Given the description of an element on the screen output the (x, y) to click on. 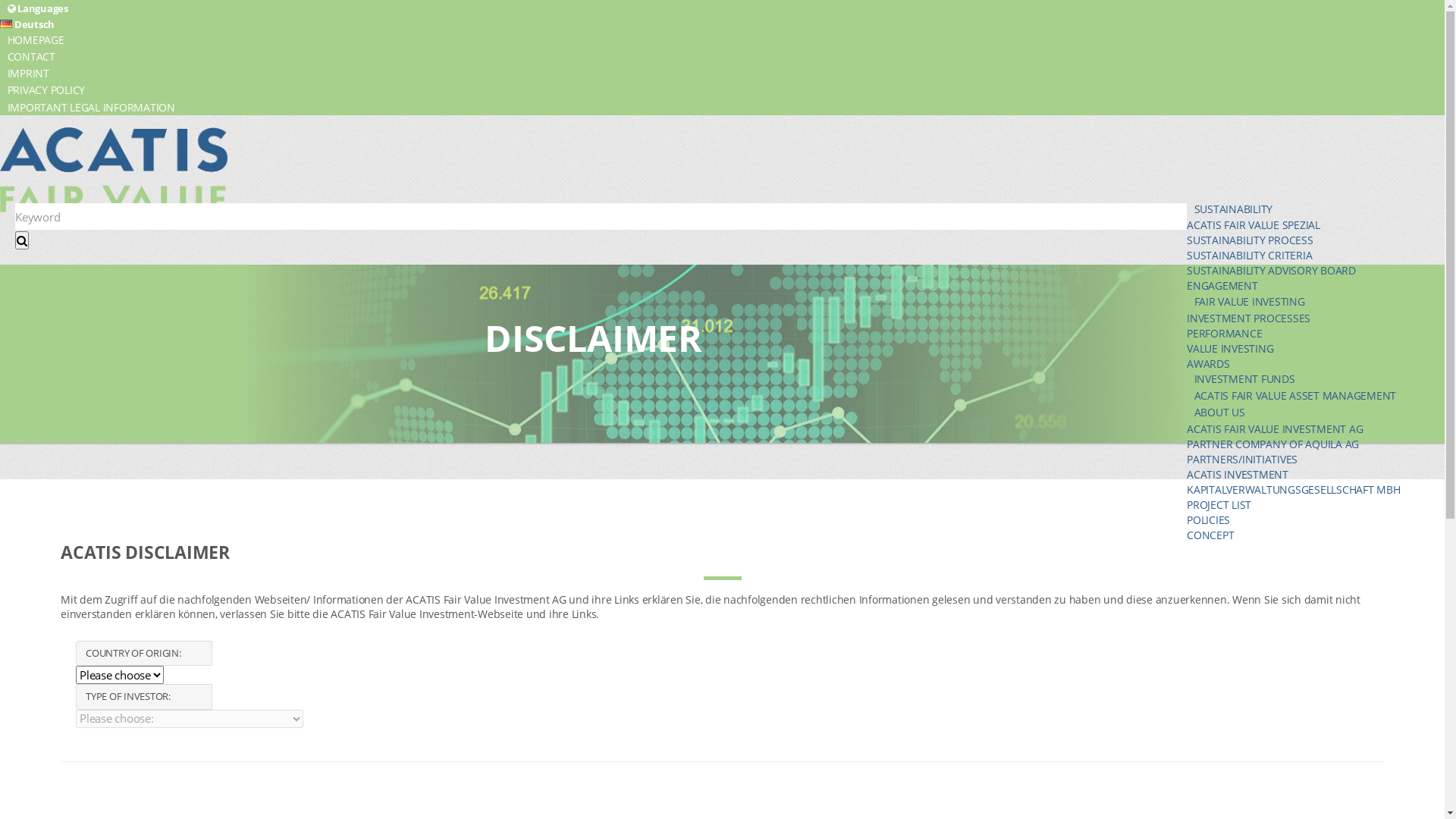
SUSTAINABILITY CRITERIA Element type: text (1248, 254)
ACATIS FAIR VALUE ASSET MANAGEMENT Element type: text (1315, 395)
SUSTAINABILITY ADVISORY BOARD Element type: text (1270, 270)
Languages Element type: text (722, 7)
IMPRINT Element type: text (722, 73)
ACATIS FAIR VALUE SPEZIAL Element type: text (1253, 224)
IMPORTANT LEGAL INFORMATION Element type: text (722, 106)
HOMEPAGE Element type: text (722, 39)
POLICIES Element type: text (1208, 519)
ABOUT US Element type: text (1315, 412)
PARTNERS/INITIATIVES Element type: text (1241, 458)
AWARDS Element type: text (1208, 363)
INVESTMENT PROCESSES Element type: text (1248, 317)
CONTACT Element type: text (722, 55)
ACATIS INVESTMENT KAPITALVERWALTUNGSGESELLSCHAFT MBH Element type: text (1293, 481)
PRIVACY POLICY Element type: text (722, 89)
Deutsch Element type: text (27, 24)
VALUE INVESTING Element type: text (1229, 348)
FAIR VALUE INVESTING Element type: text (1315, 300)
ENGAGEMENT Element type: text (1222, 285)
SUSTAINABILITY PROCESS Element type: text (1249, 239)
ACATIS Fair Value Investment AG Element type: hover (113, 169)
INVESTMENT FUNDS Element type: text (1315, 378)
PROJECT LIST Element type: text (1218, 504)
CONCEPT Element type: text (1209, 534)
PARTNER COMPANY OF AQUILA AG Element type: text (1272, 443)
SUSTAINABILITY Element type: text (1315, 208)
PERFORMANCE Element type: text (1223, 333)
ACATIS FAIR VALUE INVESTMENT AG Element type: text (1274, 428)
